Given the description of an element on the screen output the (x, y) to click on. 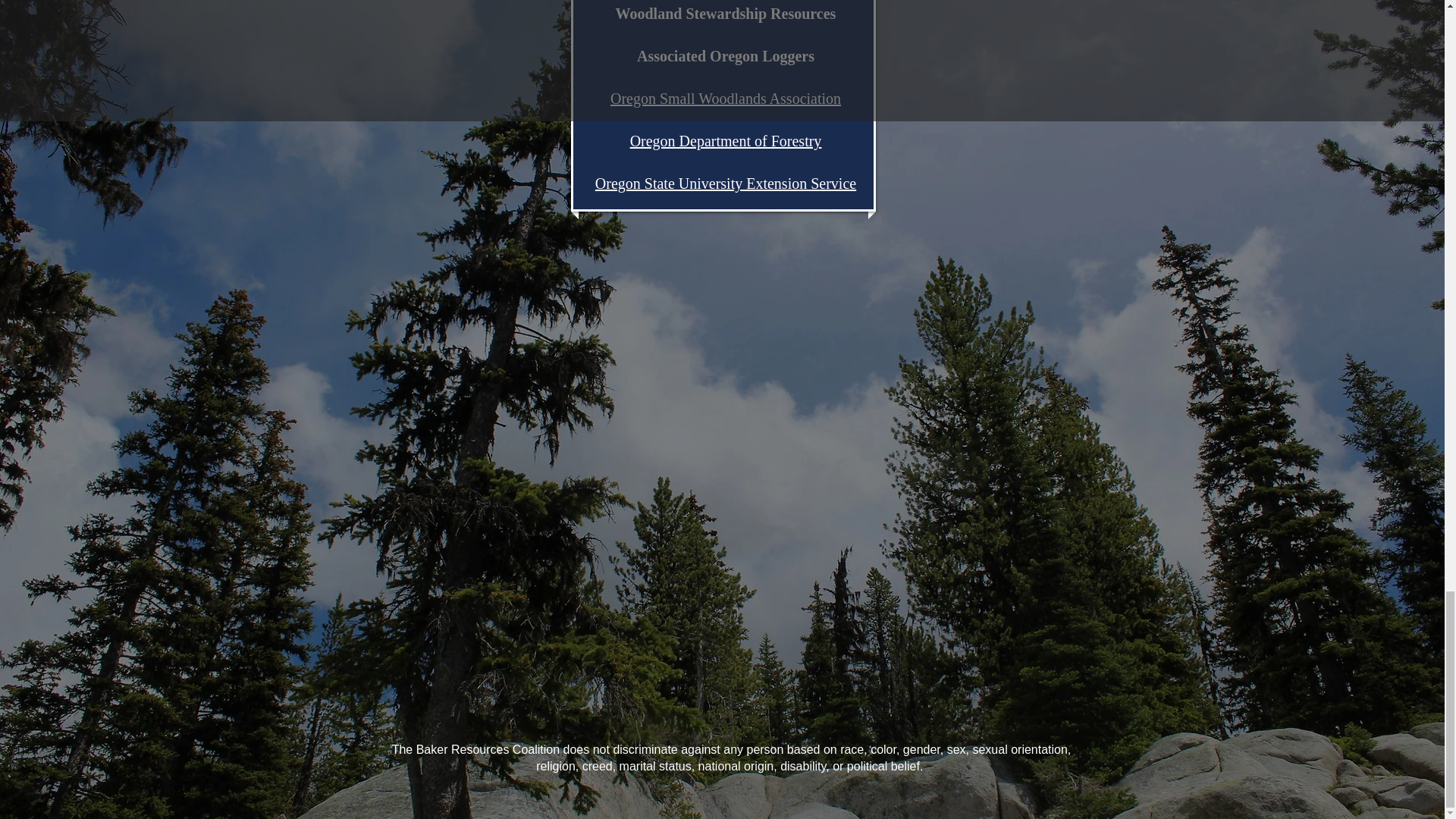
Oregon Department of Forestry (726, 140)
Oregon Small Woodlands Association (725, 98)
Oregon State University Extension Service (725, 183)
